Given the description of an element on the screen output the (x, y) to click on. 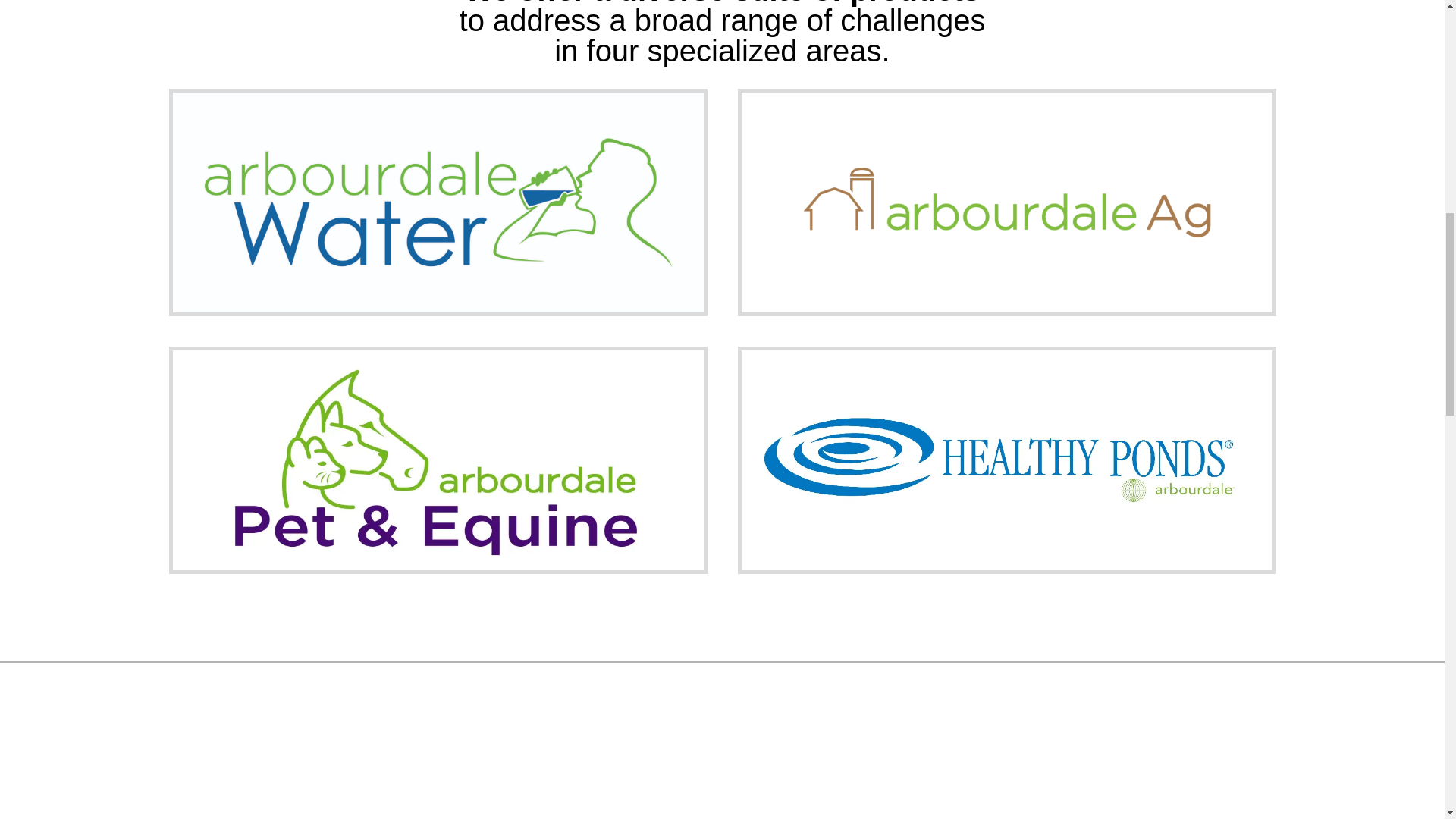
Learn More (437, 516)
Learn More (1007, 505)
Learn More (1007, 258)
Learn More (437, 258)
